Given the description of an element on the screen output the (x, y) to click on. 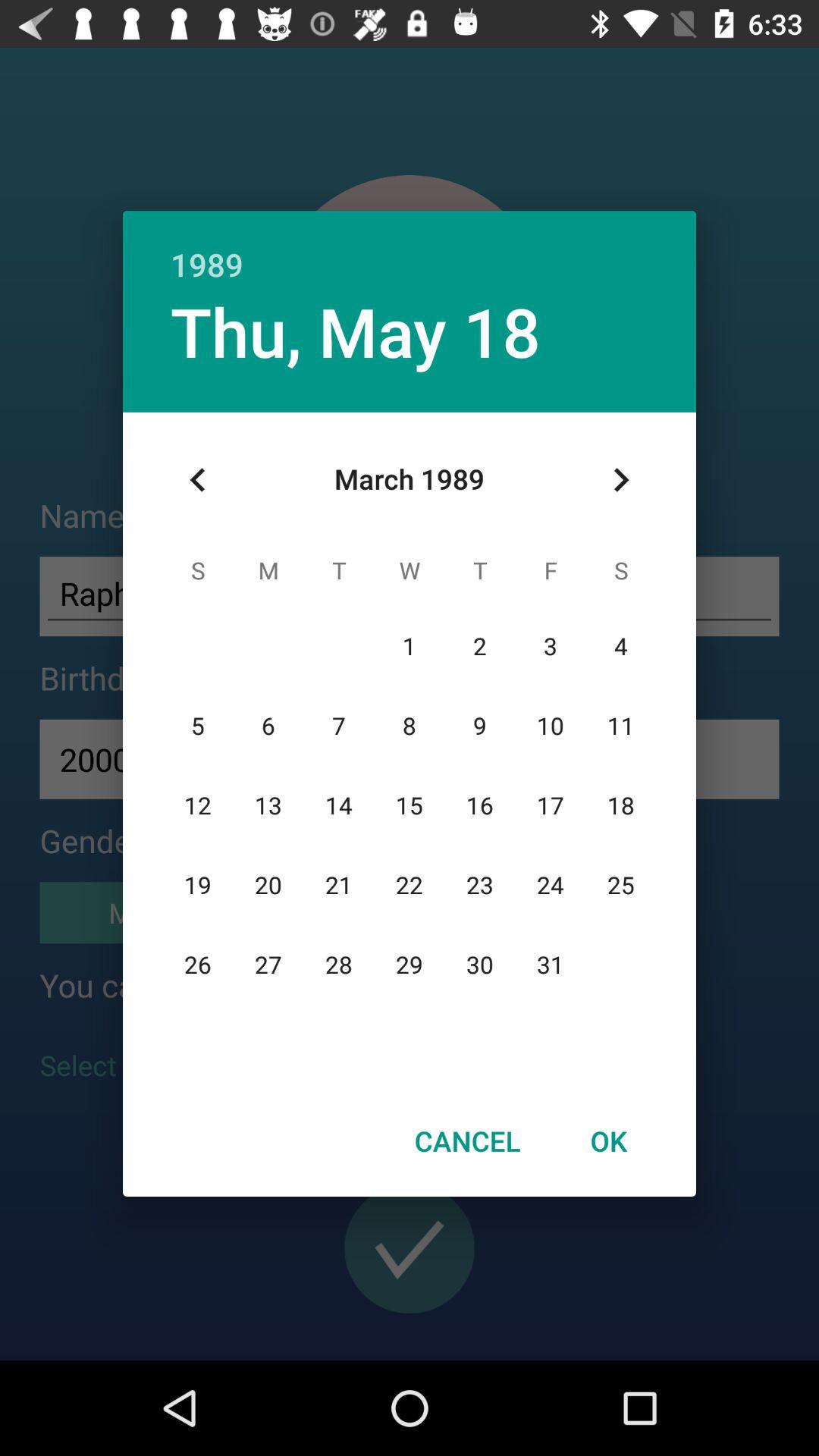
flip to cancel (467, 1140)
